Given the description of an element on the screen output the (x, y) to click on. 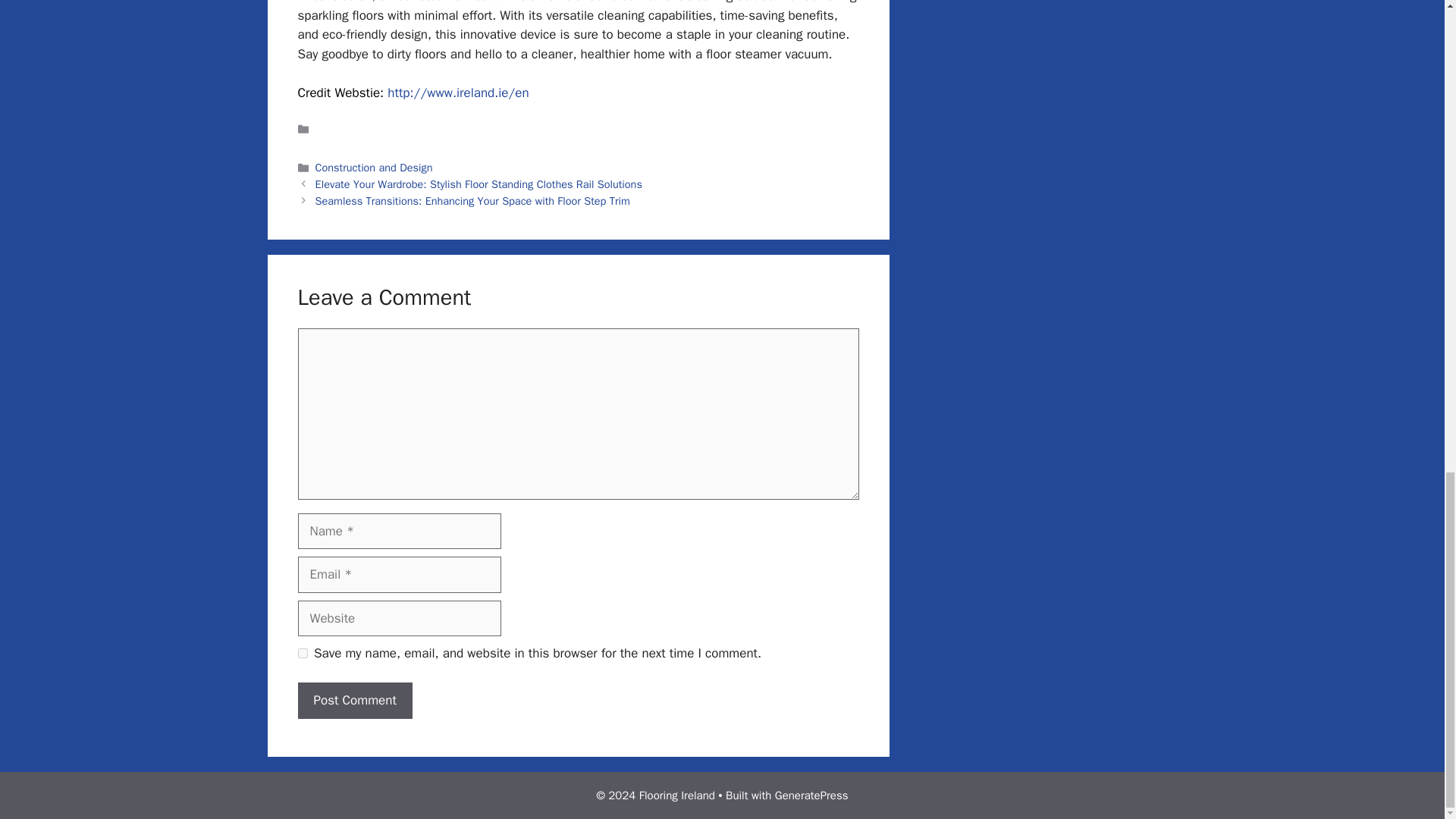
Post Comment (354, 700)
Post Comment (354, 700)
GeneratePress (811, 795)
yes (302, 653)
Construction and Design (373, 167)
